Given the description of an element on the screen output the (x, y) to click on. 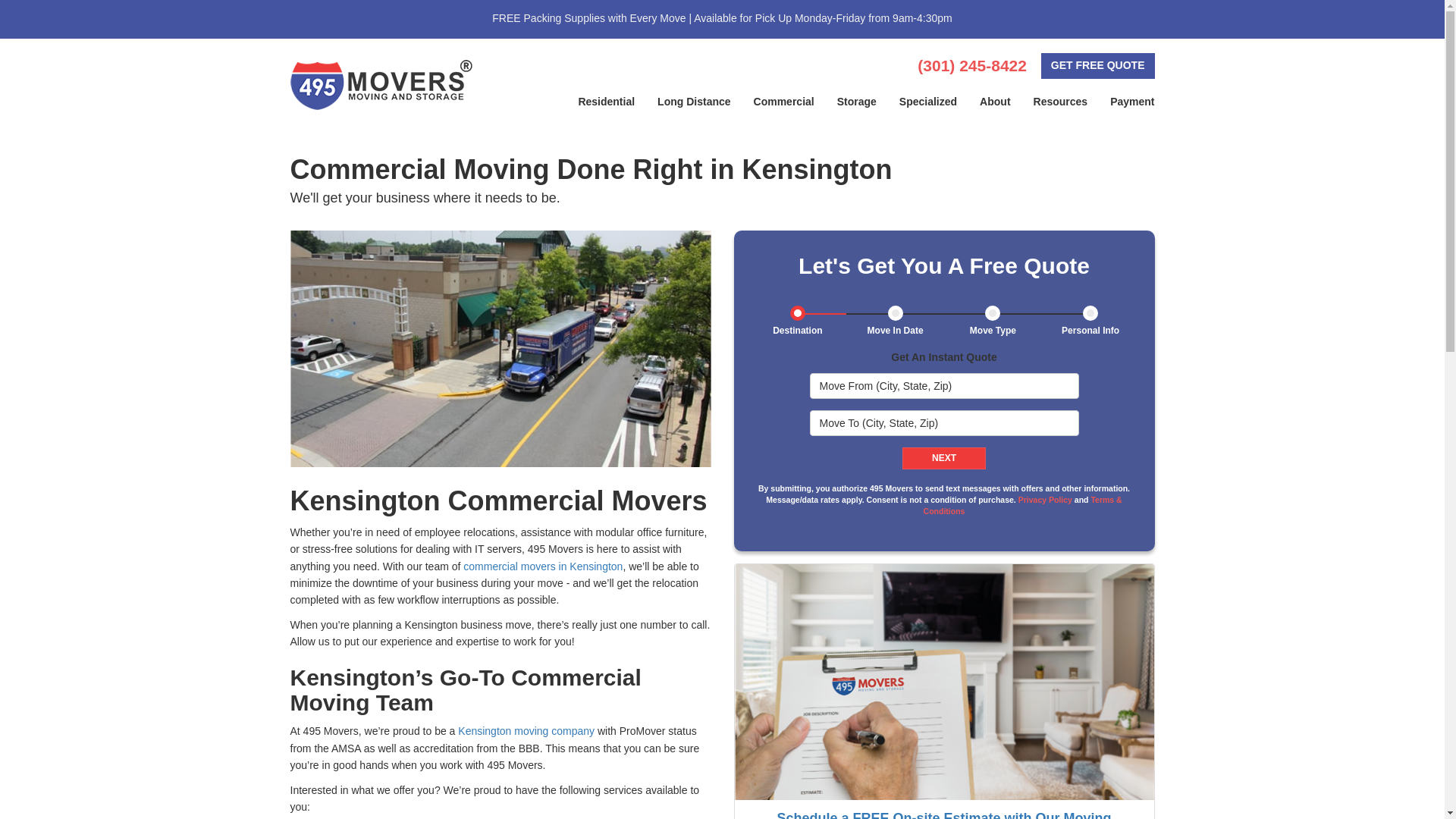
GET FREE QUOTE (1097, 65)
About (995, 101)
Resources (1060, 101)
Commercial (783, 101)
Specialized (928, 101)
Storage (856, 101)
GET FREE QUOTE (1097, 65)
Commercial Move (499, 348)
Long Distance (693, 101)
Residential (606, 101)
Payment (1132, 101)
